Given the description of an element on the screen output the (x, y) to click on. 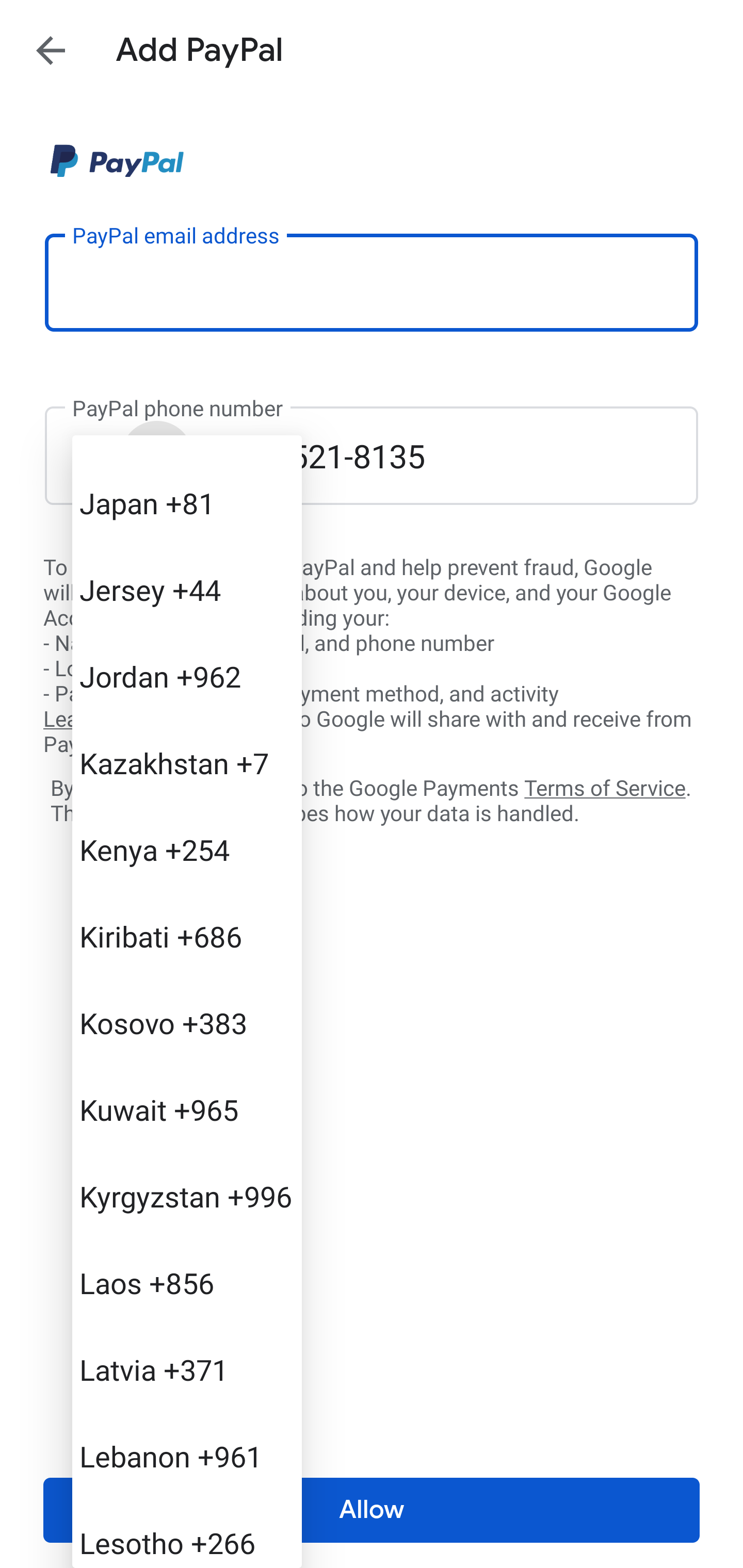
Japan +81 (186, 502)
Jersey +44 (186, 589)
Jordan +962 (186, 676)
Kazakhstan +7 (186, 762)
Kenya +254 (186, 848)
Kiribati +686 (186, 936)
Kosovo +383 (186, 1023)
Kuwait +965 (186, 1109)
Kyrgyzstan +996 (186, 1195)
Laos +856 (186, 1282)
Latvia +371 (186, 1369)
Lebanon +961 (186, 1455)
Lesotho +266 (186, 1533)
